Given the description of an element on the screen output the (x, y) to click on. 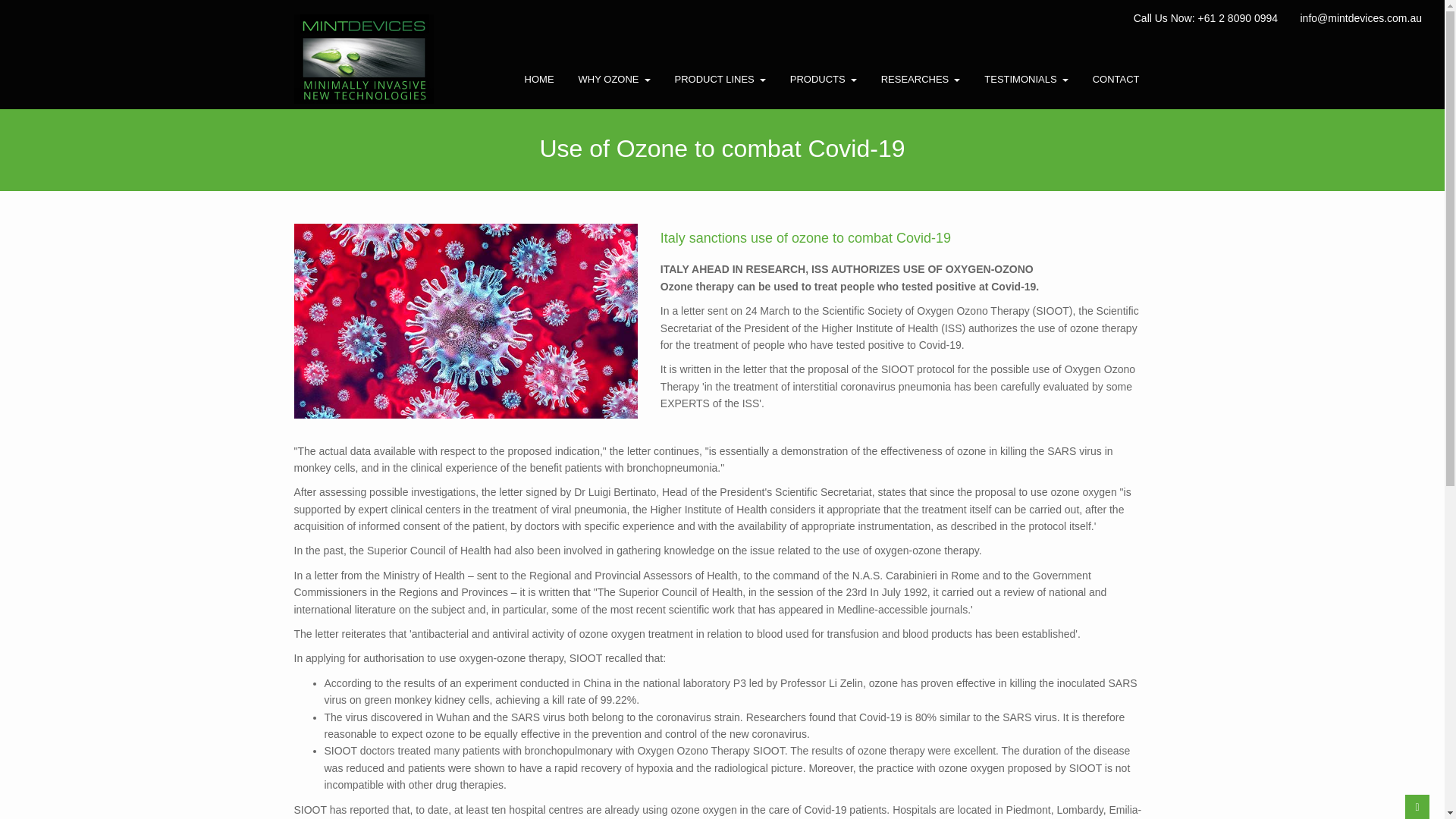
info@mintdevices.com.au Element type: text (1360, 18)
HOME Element type: text (539, 79)
TESTIMONIALS Element type: text (1025, 79)
+61 2 8090 0994 Element type: text (1238, 18)
WHY OZONE Element type: text (614, 79)
PRODUCT LINES Element type: text (719, 79)
PRODUCTS Element type: text (823, 79)
CONTACT Element type: text (1116, 79)
RESEARCHES Element type: text (920, 79)
